Given the description of an element on the screen output the (x, y) to click on. 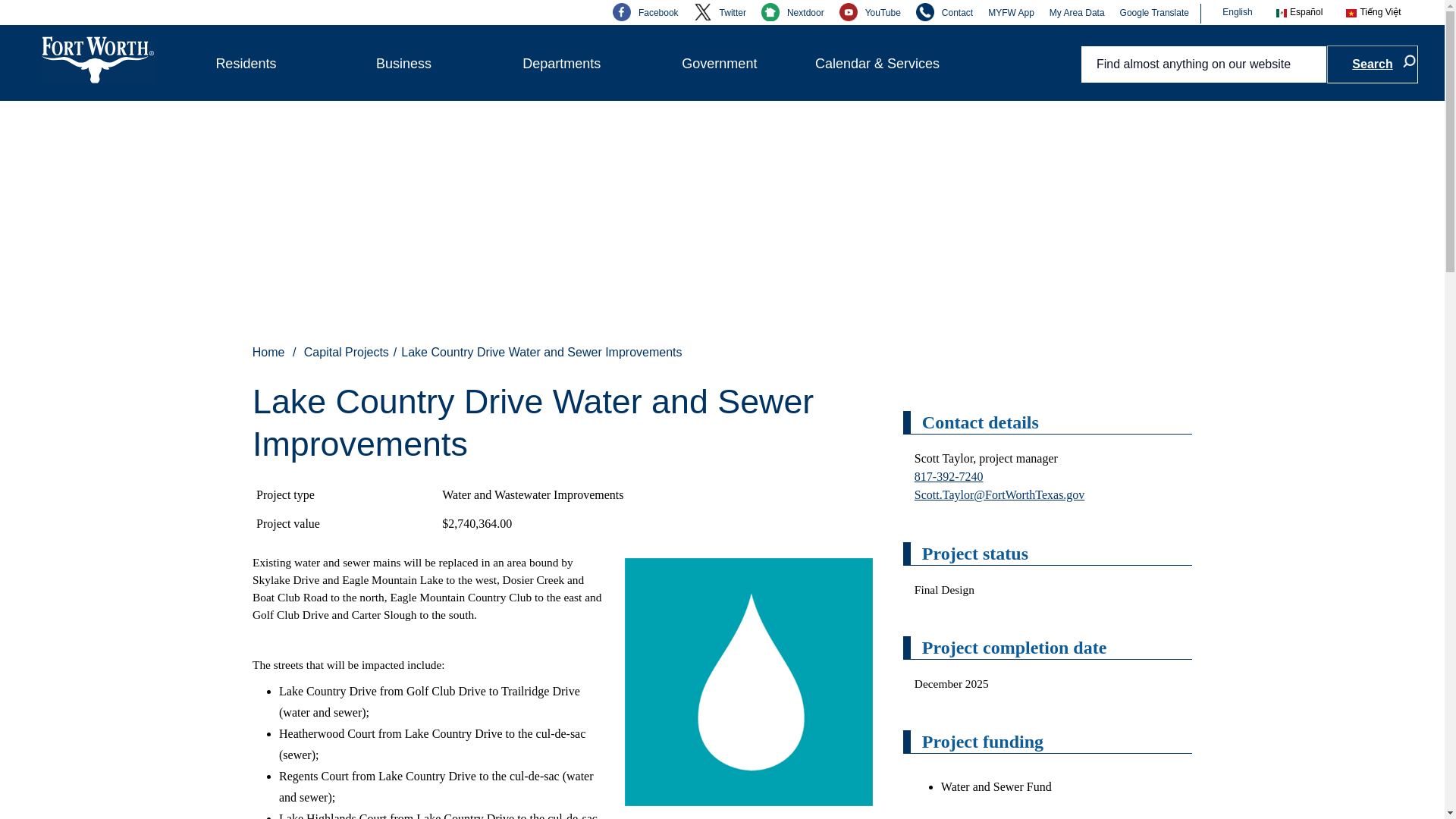
Contact (943, 12)
My Area Data (1077, 12)
YouTube (870, 12)
Search (1372, 64)
Google Translate (1154, 12)
Facebook (645, 12)
Twitter (719, 12)
Nextdoor (792, 12)
MYFW App (1010, 12)
Residents (245, 63)
City of Fort Worth - Home - Logo (98, 59)
Search (1372, 64)
